Given the description of an element on the screen output the (x, y) to click on. 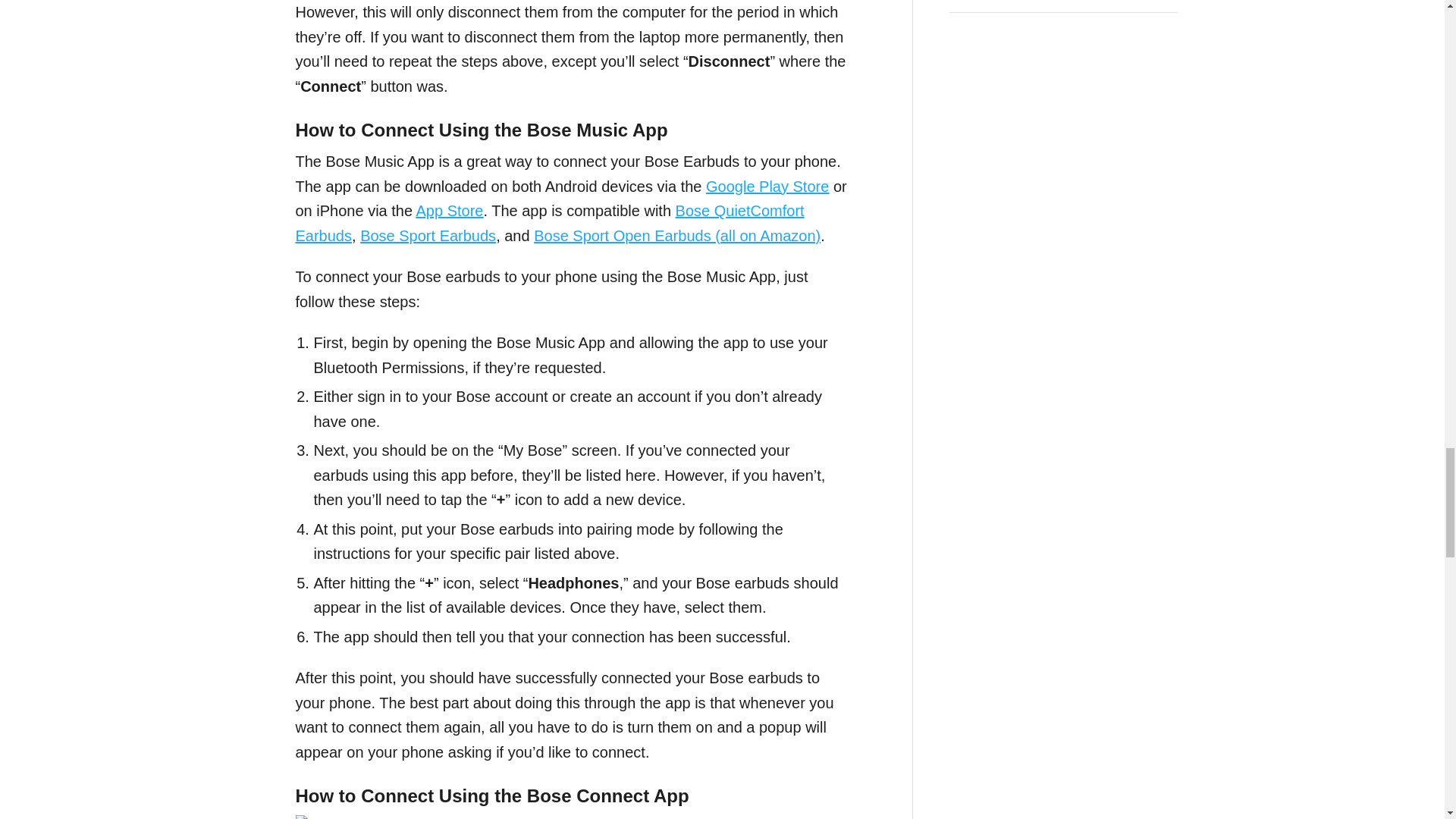
Bose Sport Earbuds (427, 235)
Google Play Store (767, 186)
Bose QuietComfort Earbuds (550, 223)
App Store (449, 210)
